Given the description of an element on the screen output the (x, y) to click on. 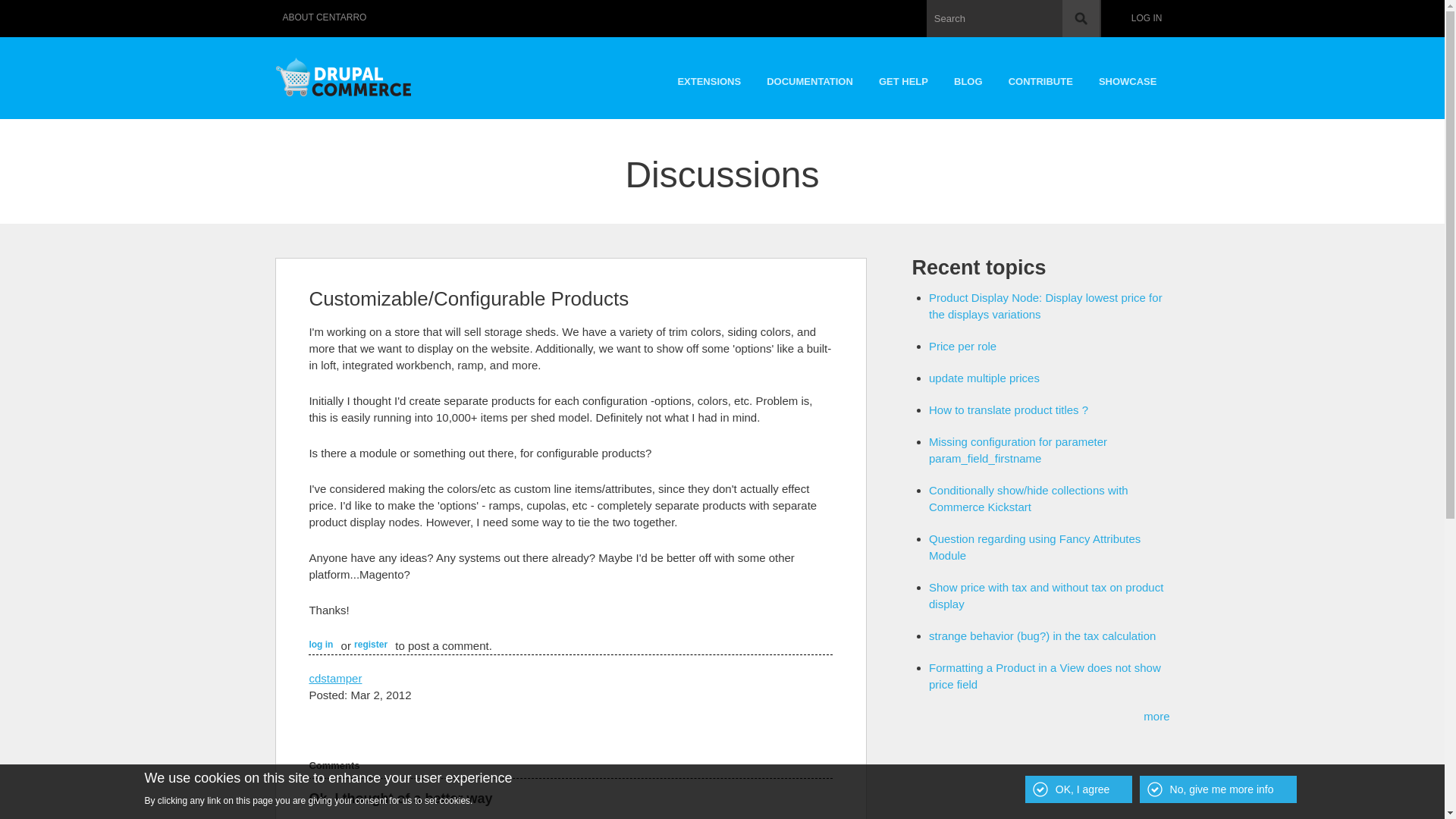
Search (1080, 18)
Question regarding using Fancy Attributes Module (1034, 546)
ABOUT CENTARRO (324, 18)
update multiple prices (983, 377)
cdstamper (334, 677)
register (370, 644)
Skip to main content (688, 1)
SHOWCASE (1128, 77)
log in (320, 644)
View user profile. (334, 677)
